Given the description of an element on the screen output the (x, y) to click on. 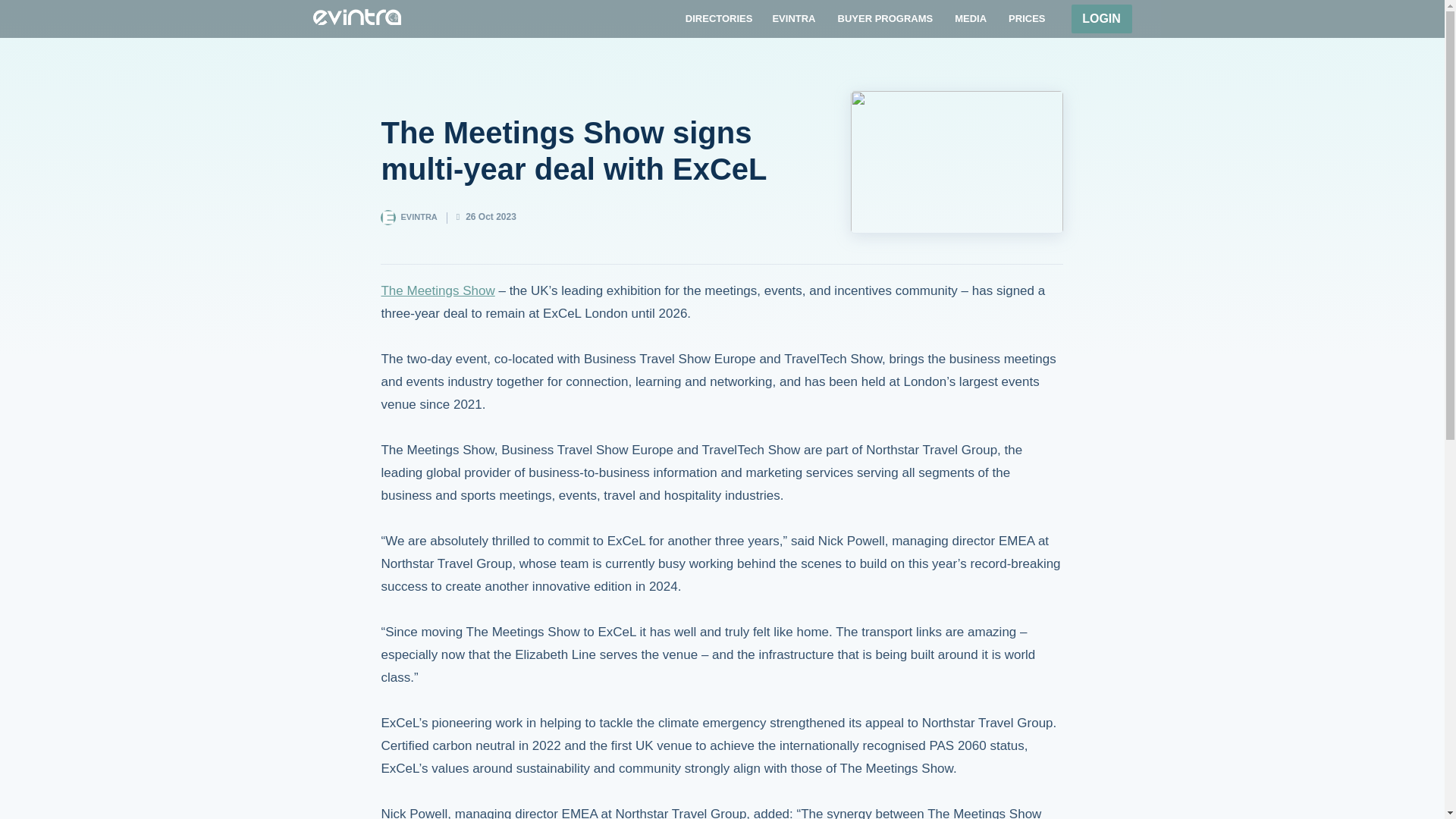
MEDIA (970, 18)
EVINTRA (794, 18)
LOGIN (1100, 18)
PRICES (1026, 18)
Hosted Buyer Programs and Fam Trips (884, 18)
BUYER PROGRAMS (884, 18)
DIRECTORIES (718, 18)
The Meetings Show (437, 290)
